Given the description of an element on the screen output the (x, y) to click on. 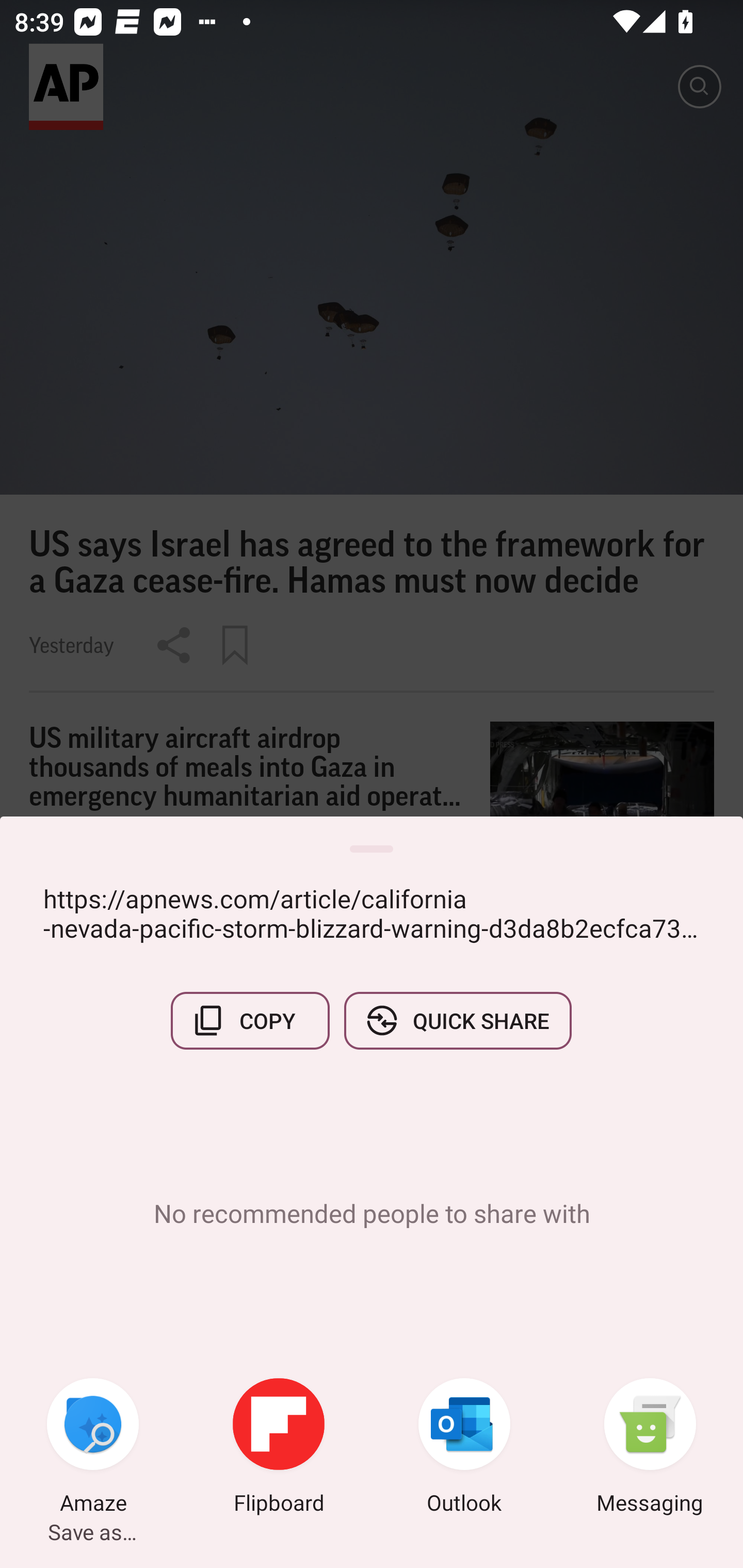
COPY (249, 1020)
QUICK SHARE (457, 1020)
Amaze Save as… (92, 1448)
Flipboard (278, 1448)
Outlook (464, 1448)
Messaging (650, 1448)
